Given the description of an element on the screen output the (x, y) to click on. 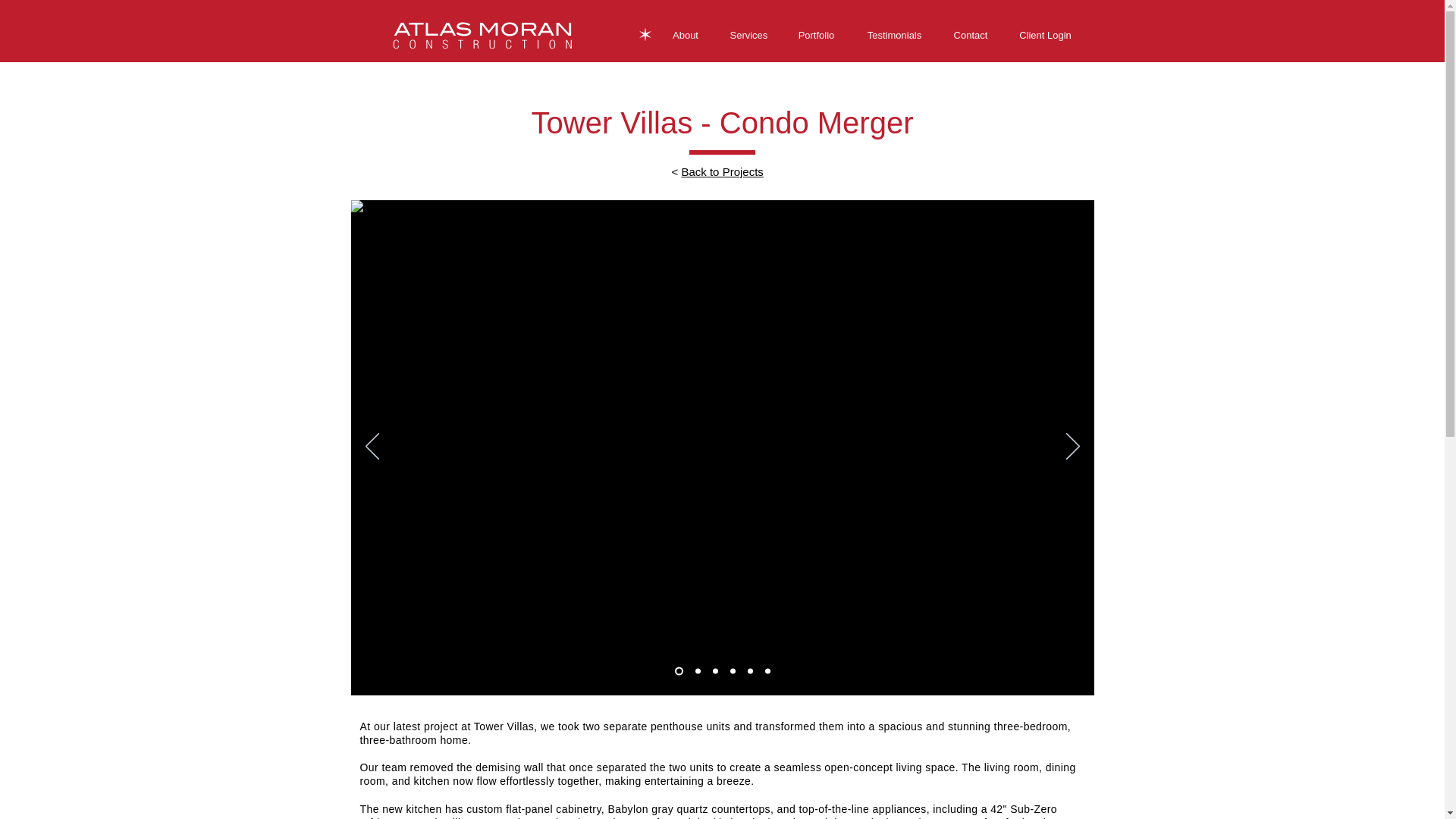
Client Login (1045, 35)
Portfolio (815, 35)
About (685, 35)
Back to Projects (721, 171)
Testimonials (893, 35)
Services (747, 35)
Contact (970, 35)
